Given the description of an element on the screen output the (x, y) to click on. 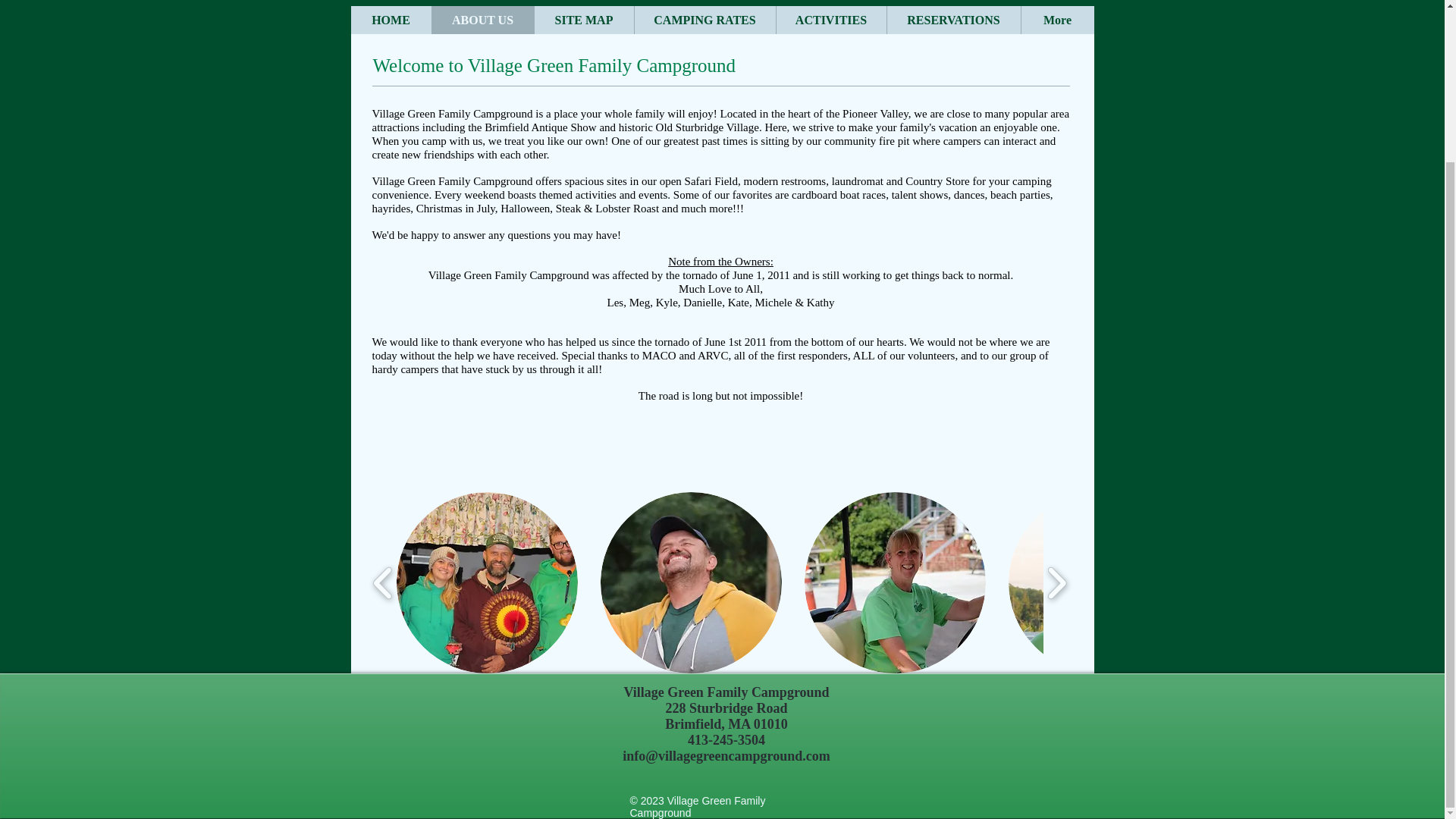
ABOUT US (481, 19)
ACTIVITIES (829, 19)
RESERVATIONS (952, 19)
SITE MAP (583, 19)
HOME (390, 19)
CAMPING RATES (704, 19)
